Given the description of an element on the screen output the (x, y) to click on. 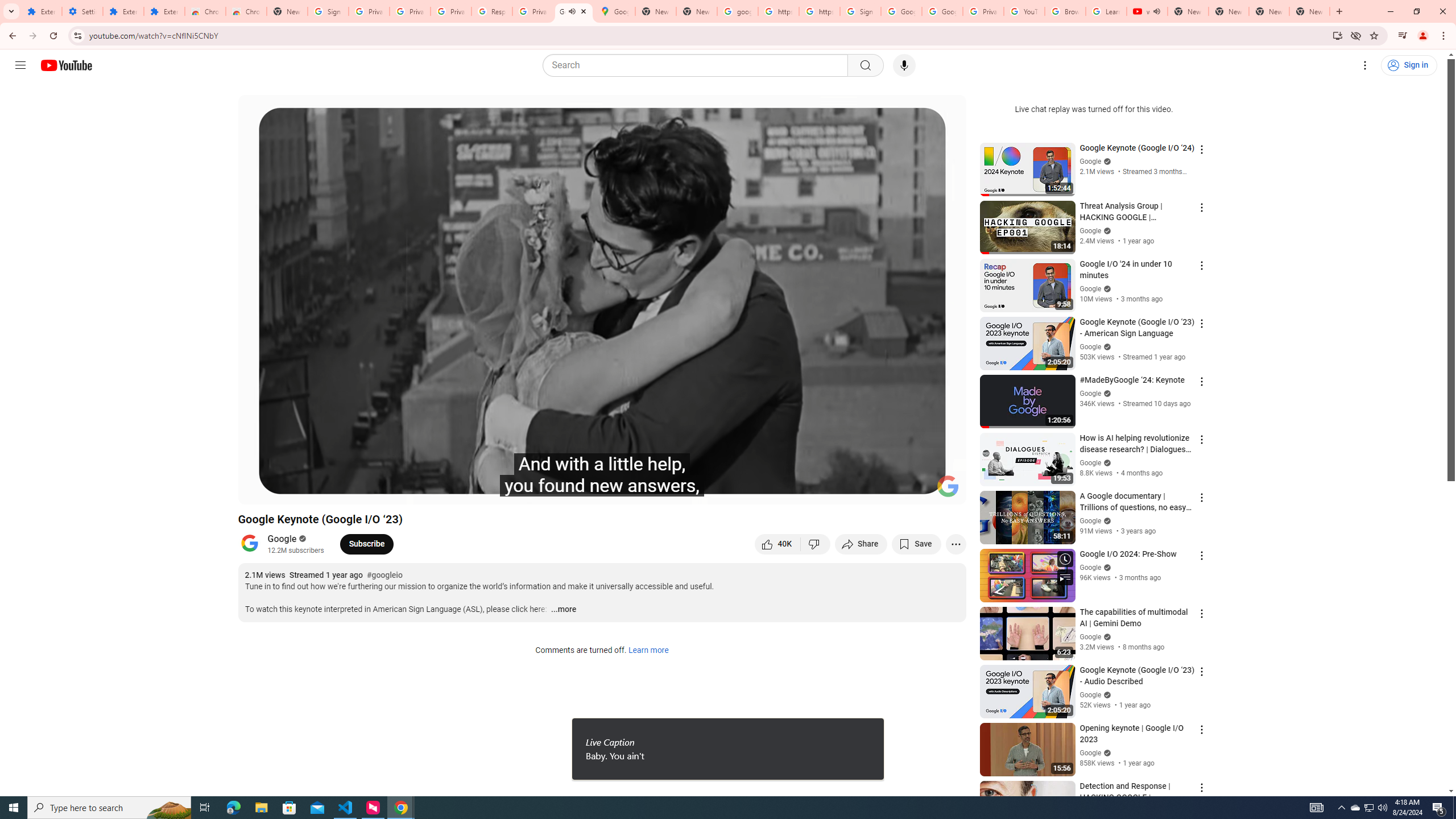
Dislike this video (815, 543)
Opening Film (408, 490)
https://scholar.google.com/ (777, 11)
Seek slider (601, 476)
Save to playlist (915, 543)
Sign in - Google Accounts (860, 11)
More actions (955, 543)
Learn more (647, 650)
Autoplay is on (808, 490)
